Given the description of an element on the screen output the (x, y) to click on. 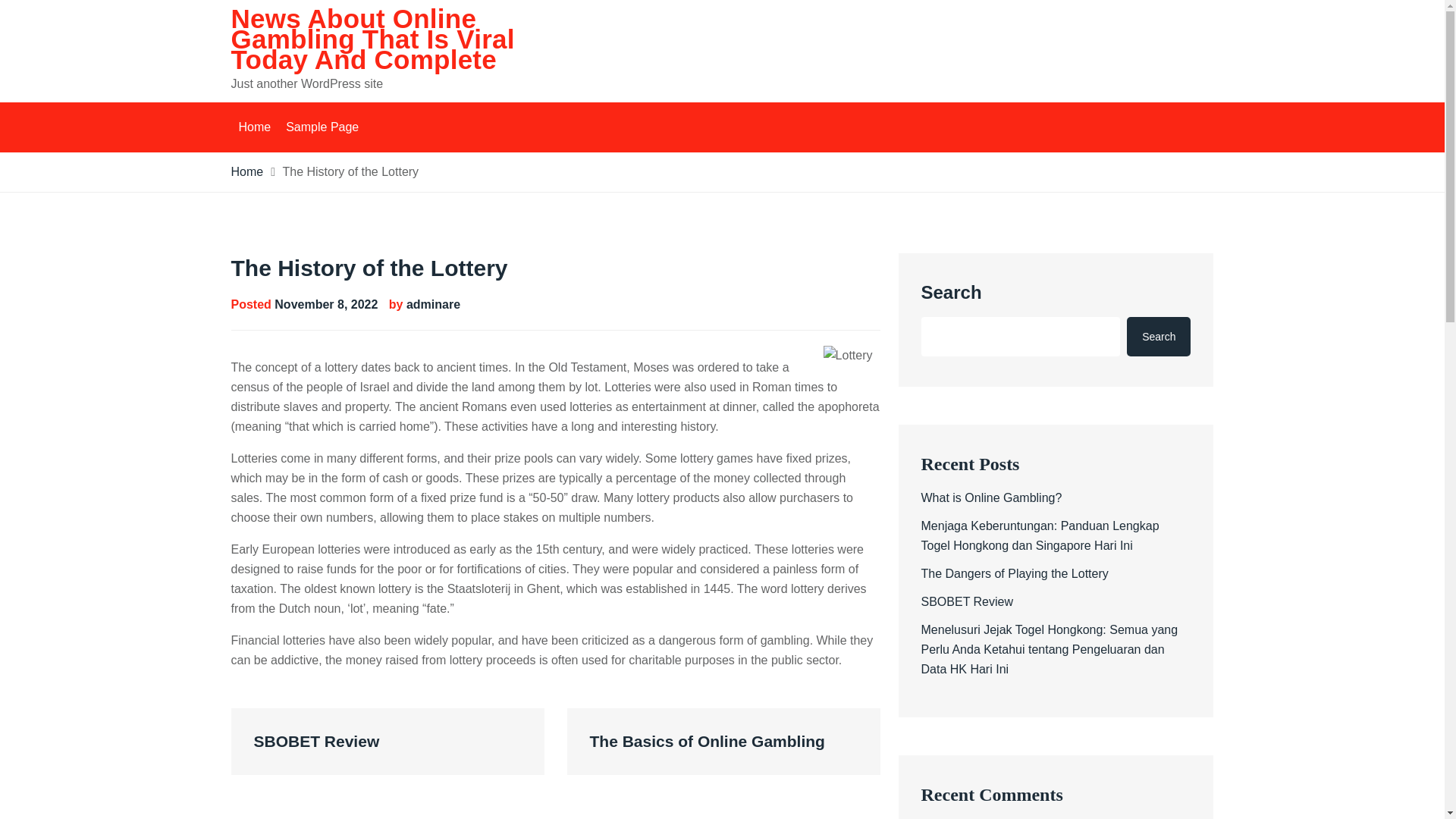
Home (254, 127)
News About Online Gambling That Is Viral Today And Complete (371, 39)
Search (1158, 336)
adminare (433, 304)
SBOBET Review (386, 741)
The Basics of Online Gambling (723, 741)
Sample Page (322, 127)
What is Online Gambling? (990, 497)
The Dangers of Playing the Lottery (1014, 573)
